Given the description of an element on the screen output the (x, y) to click on. 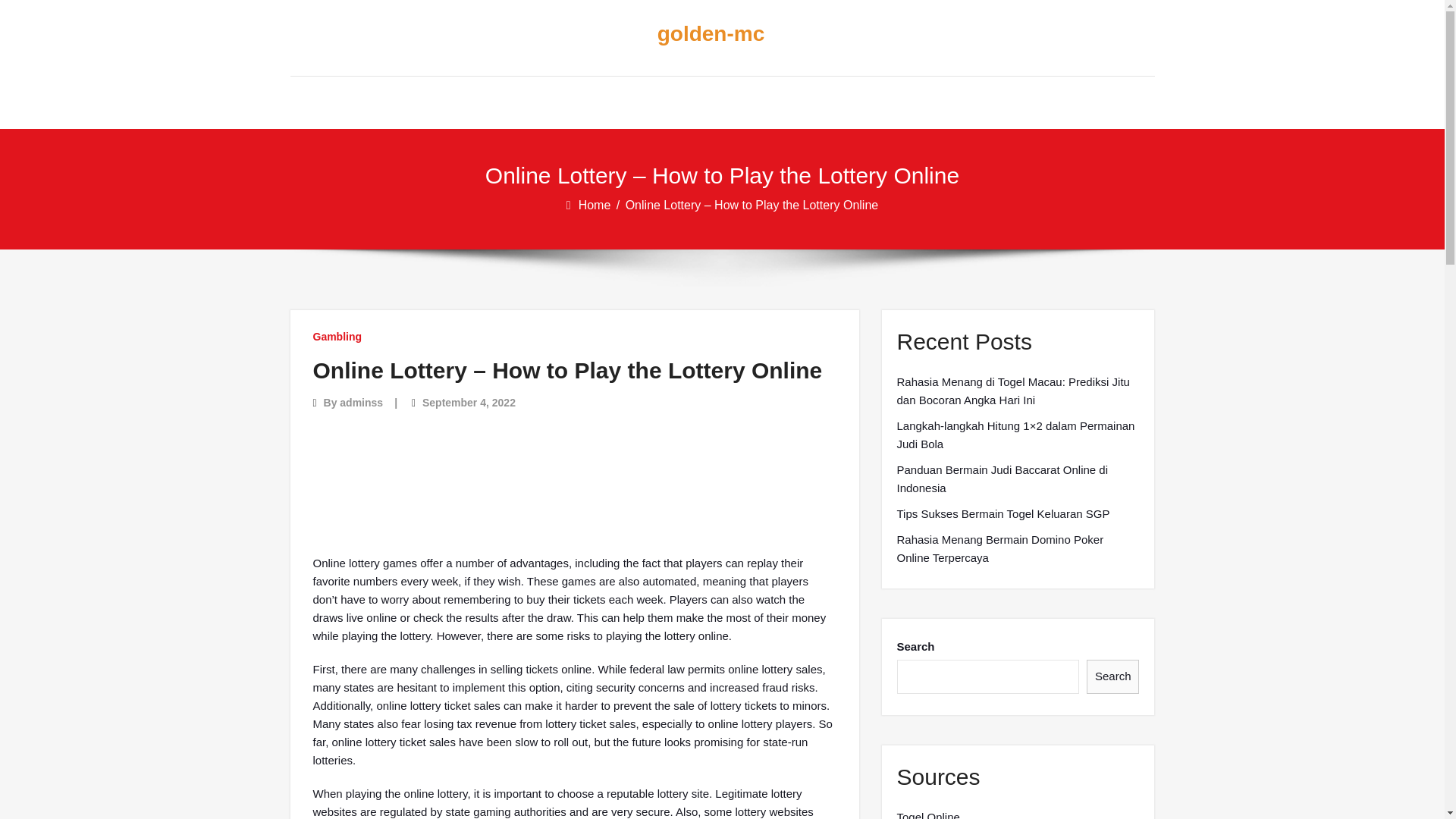
Tips Sukses Bermain Togel Keluaran SGP (1002, 514)
Search (1113, 676)
Panduan Bermain Judi Baccarat Online di Indonesia (1017, 479)
golden-mc (710, 34)
Rahasia Menang Bermain Domino Poker Online Terpercaya (1017, 548)
Home (595, 205)
September 4, 2022 (468, 402)
Gambling (337, 336)
Togel Online (927, 813)
